Given the description of an element on the screen output the (x, y) to click on. 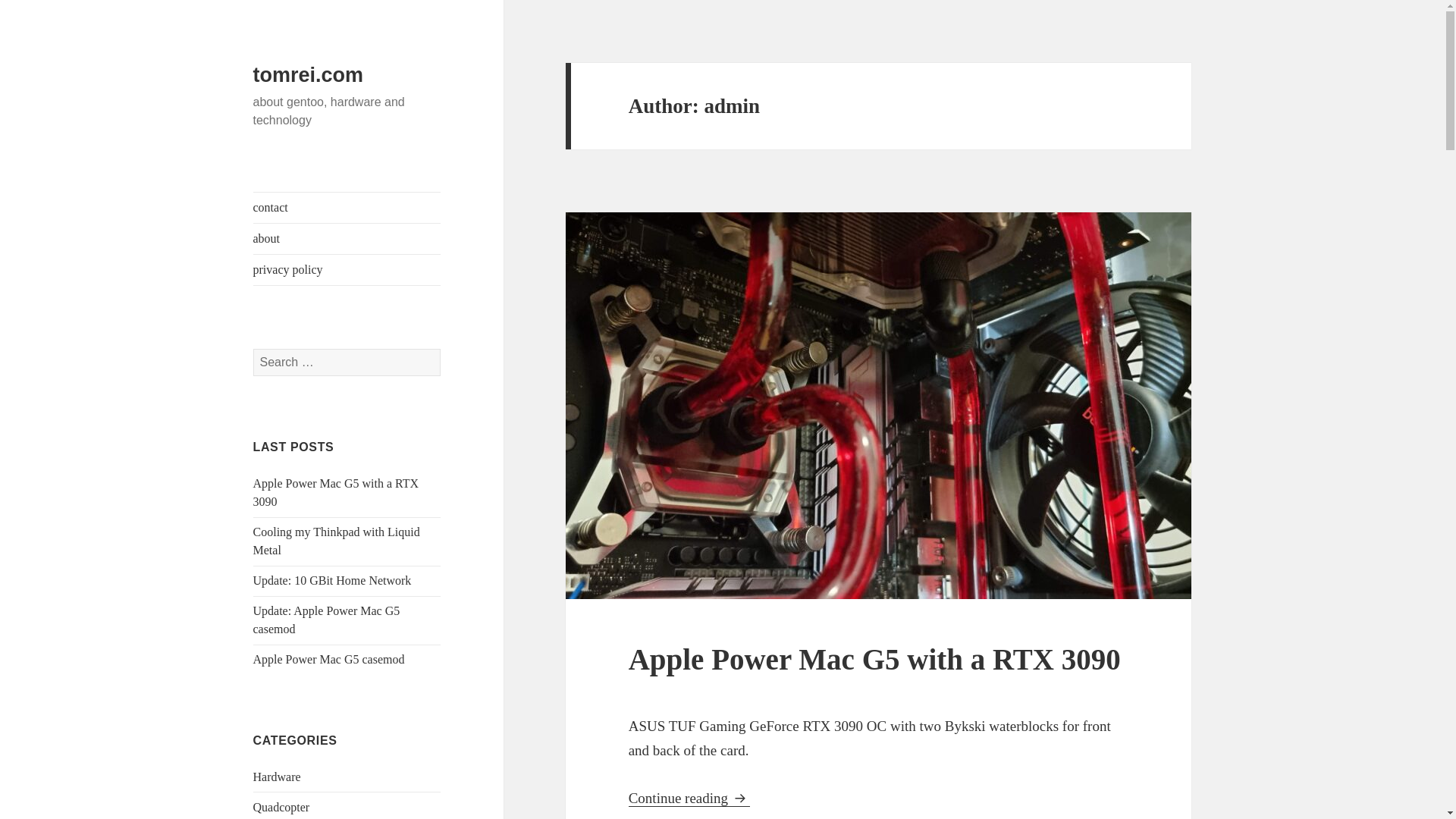
contact (347, 207)
Update: Apple Power Mac G5 casemod (326, 619)
Update: 10 GBit Home Network (332, 580)
Apple Power Mac G5 with a RTX 3090 (336, 491)
privacy policy (347, 269)
Quadcopter (281, 807)
Apple Power Mac G5 casemod (328, 658)
